Given the description of an element on the screen output the (x, y) to click on. 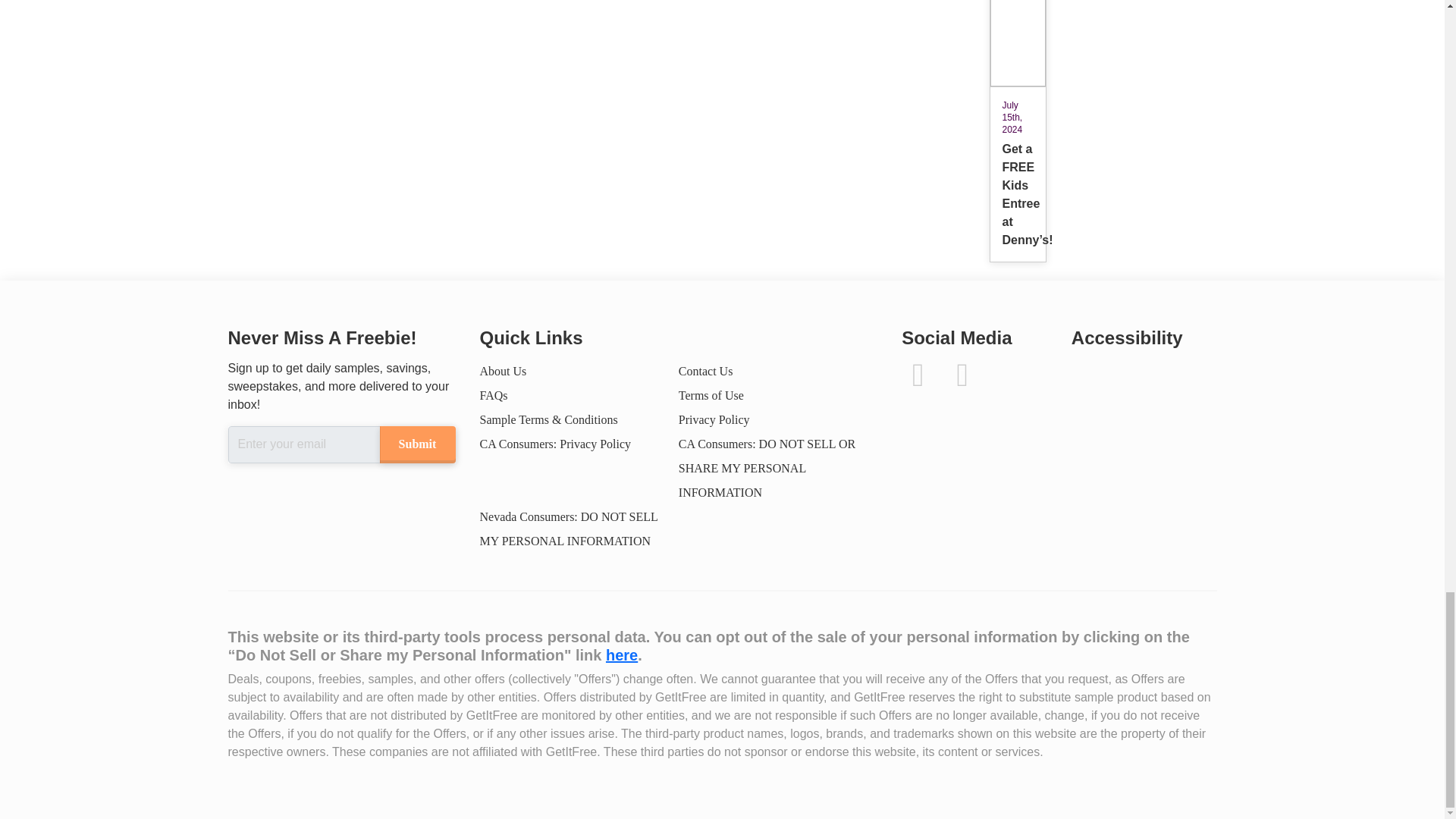
Contact Us (705, 370)
CA Consumers: DO NOT SELL OR SHARE MY PERSONAL INFORMATION (767, 467)
here (621, 655)
About Us (502, 370)
Submit (416, 444)
Privacy Policy (713, 419)
Nevada Consumers: DO NOT SELL MY PERSONAL INFORMATION (568, 528)
FAQs (492, 395)
CA Consumers: Privacy Policy (554, 443)
Terms of Use (711, 395)
